Given the description of an element on the screen output the (x, y) to click on. 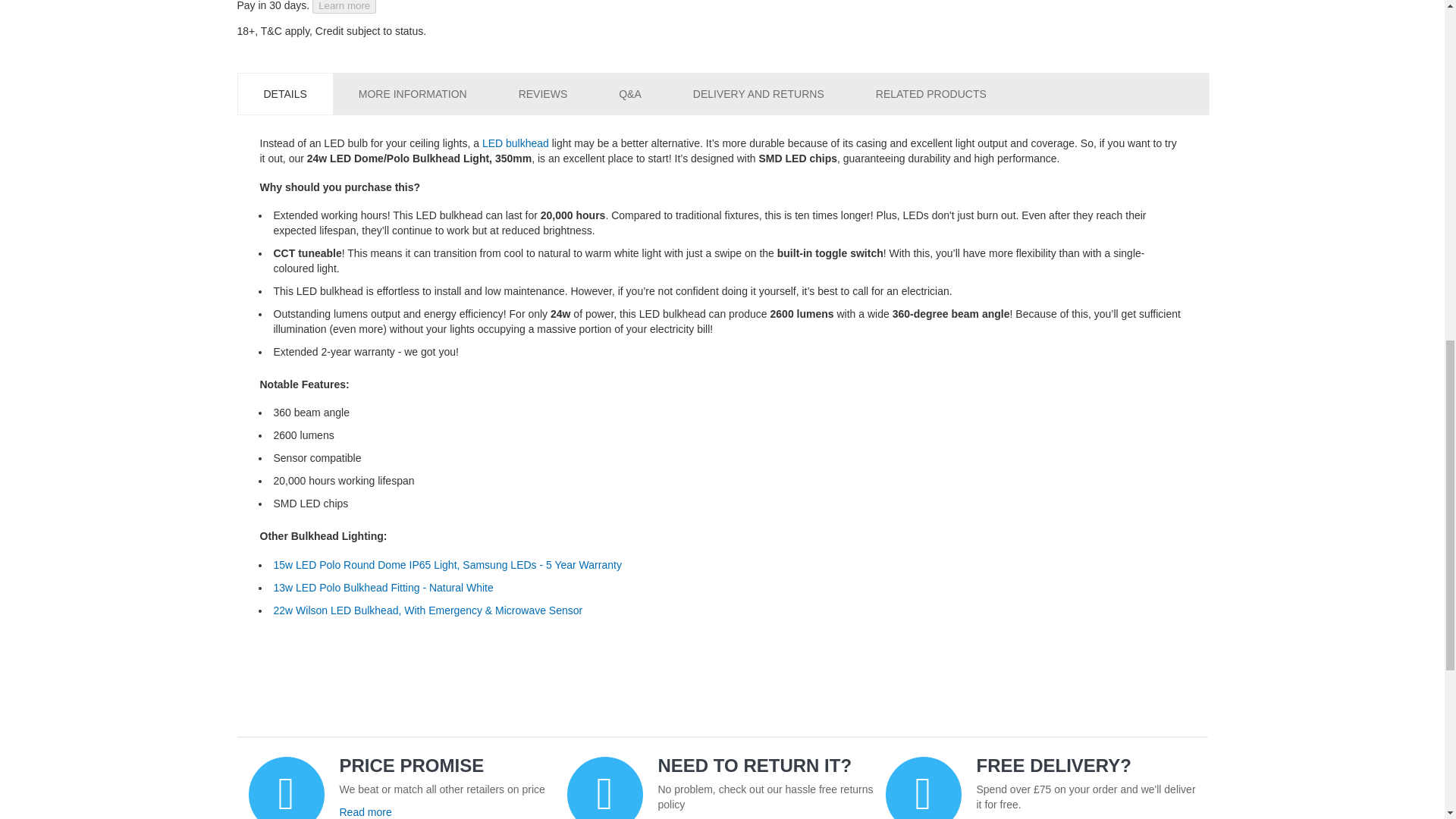
1 (1028, 101)
